Given the description of an element on the screen output the (x, y) to click on. 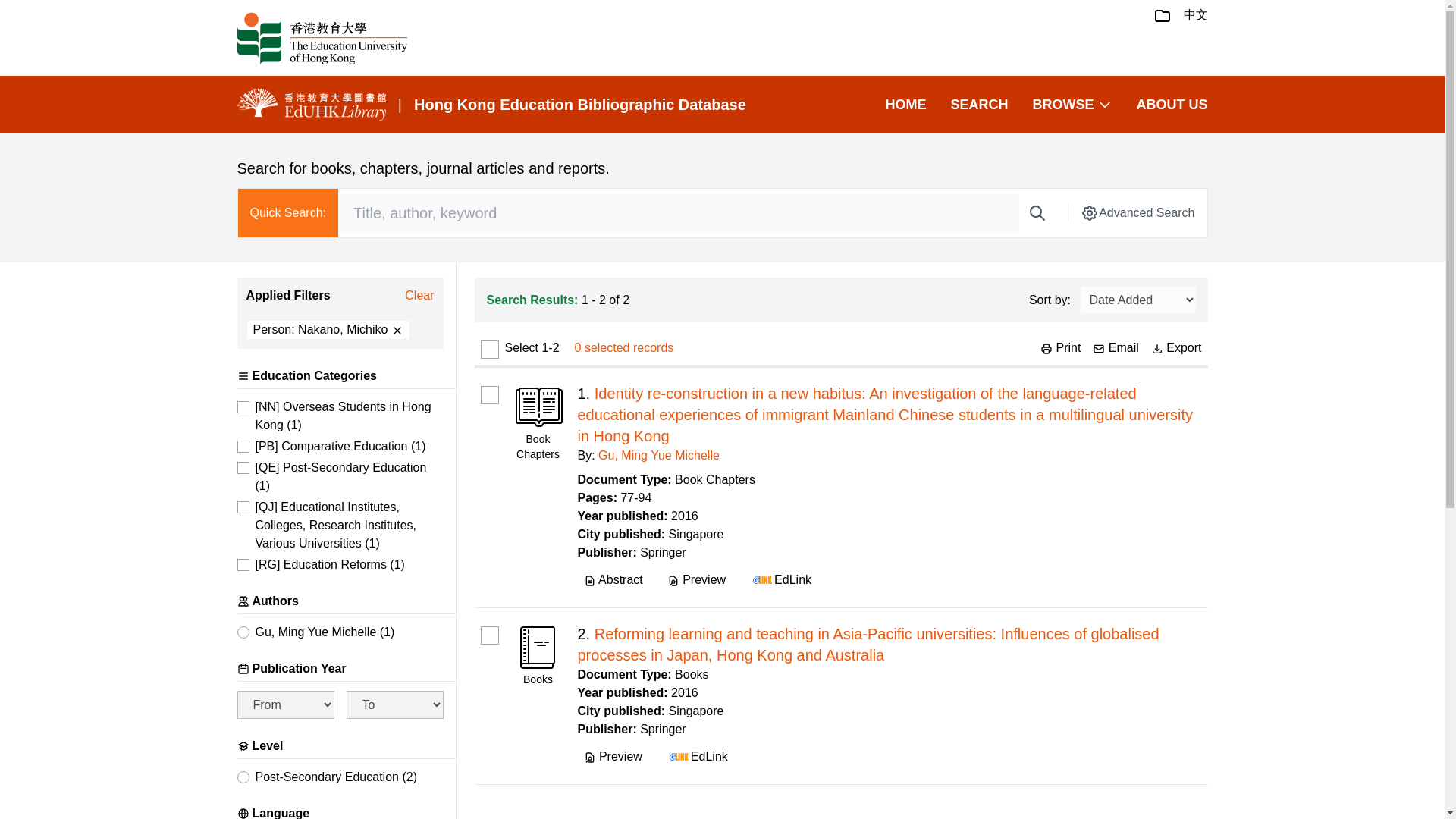
Print (1060, 348)
EdLink (780, 580)
Clear (418, 295)
Advanced Search (1136, 212)
Export (1176, 348)
Preview (696, 580)
Email (1115, 348)
ABOUT US (1171, 104)
0 selected records (624, 348)
SEARCH (978, 104)
HOME (905, 104)
Hong Kong Education Bibliographic Database (579, 104)
Abstract (613, 580)
